Given the description of an element on the screen output the (x, y) to click on. 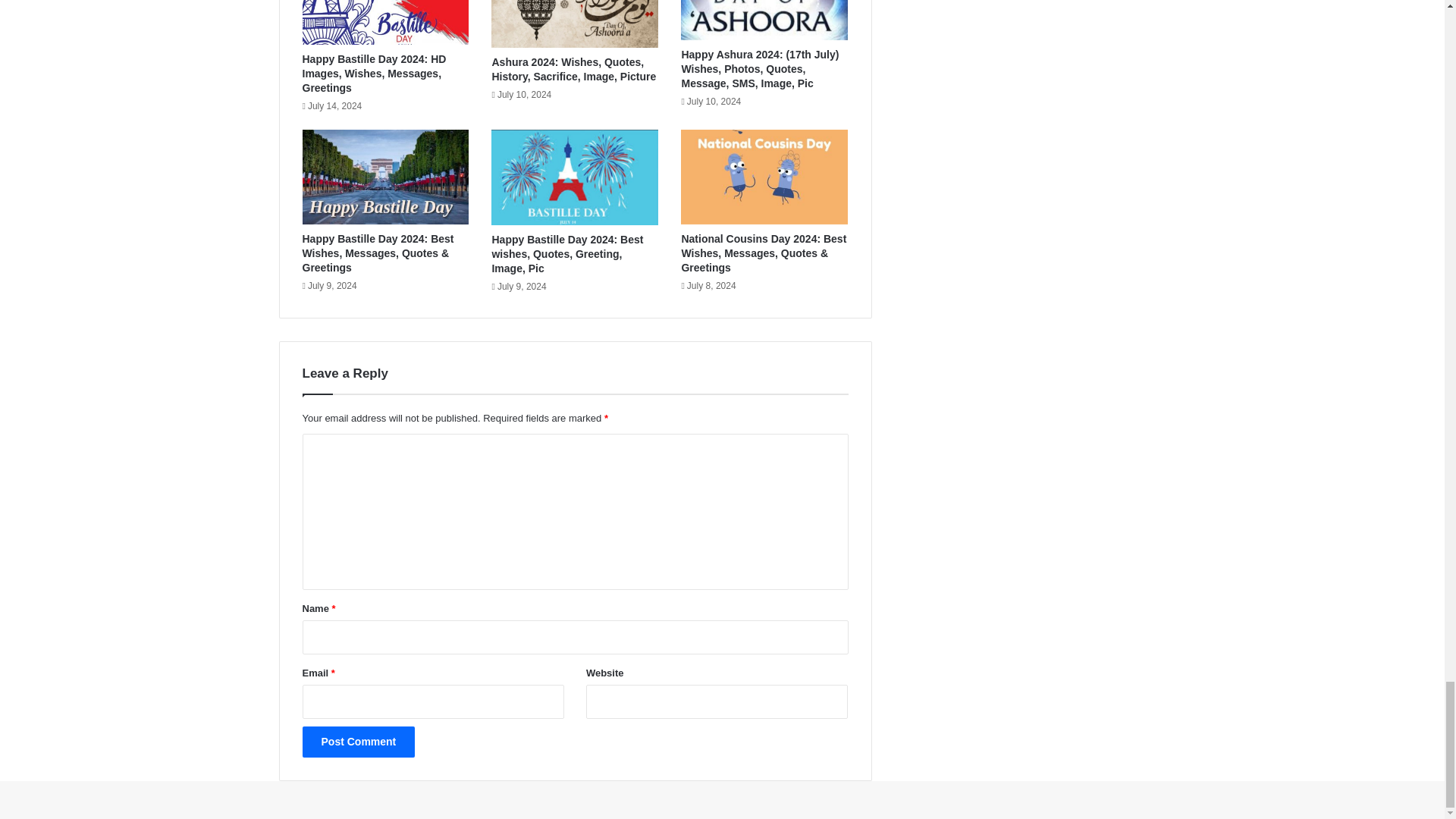
Post Comment (357, 741)
